Given the description of an element on the screen output the (x, y) to click on. 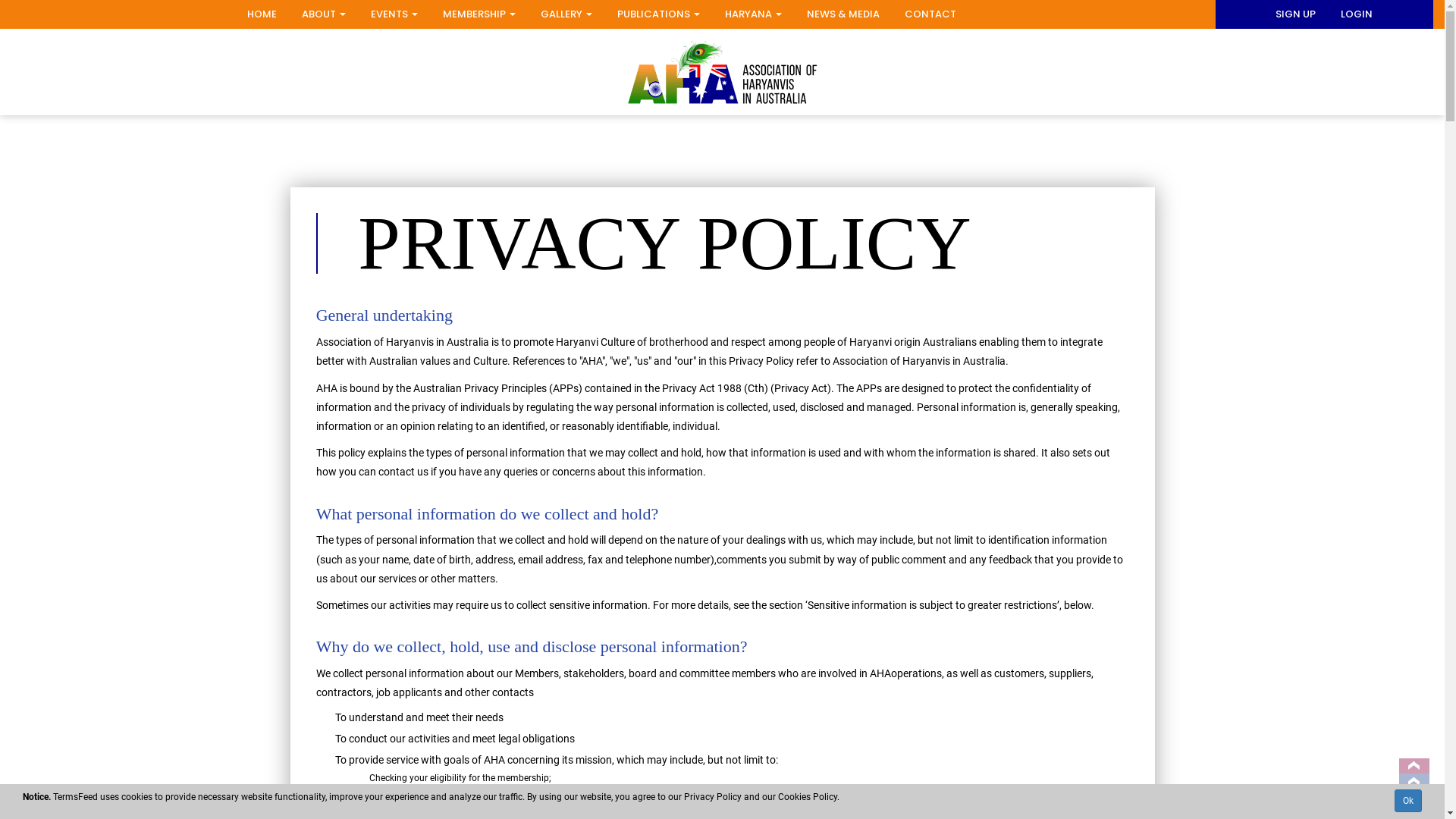
LOGIN Element type: text (1356, 14)
CONTACT Element type: text (930, 14)
SIGN UP Element type: text (1295, 14)
PUBLICATIONS Element type: text (658, 14)
HOME Element type: text (261, 14)
Ok Element type: text (1407, 800)
GALLERY Element type: text (566, 14)
MEMBERSHIP Element type: text (479, 14)
EVENTS Element type: text (394, 14)
NEWS & MEDIA Element type: text (843, 14)
HARYANA Element type: text (753, 14)
ABOUT Element type: text (323, 14)
